Given the description of an element on the screen output the (x, y) to click on. 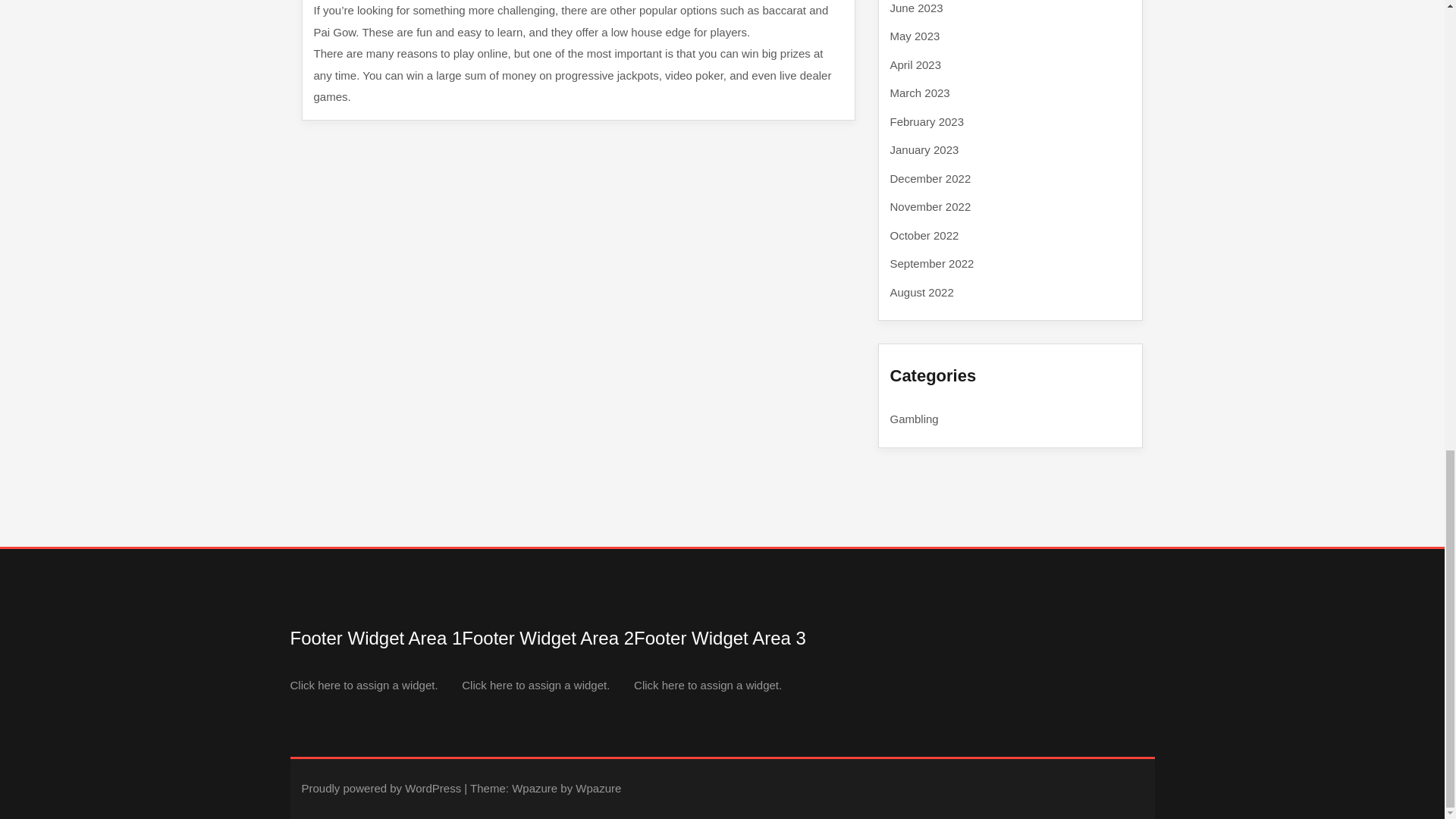
April 2023 (915, 63)
May 2023 (914, 35)
February 2023 (926, 121)
Gambling (914, 418)
August 2022 (921, 291)
November 2022 (930, 205)
September 2022 (931, 263)
June 2023 (916, 7)
January 2023 (924, 149)
Click here to assign a widget. (363, 684)
March 2023 (919, 92)
Proudly powered by WordPress (381, 788)
Wpazure (534, 788)
Click here to assign a widget. (535, 684)
Click here to assign a widget. (707, 684)
